Given the description of an element on the screen output the (x, y) to click on. 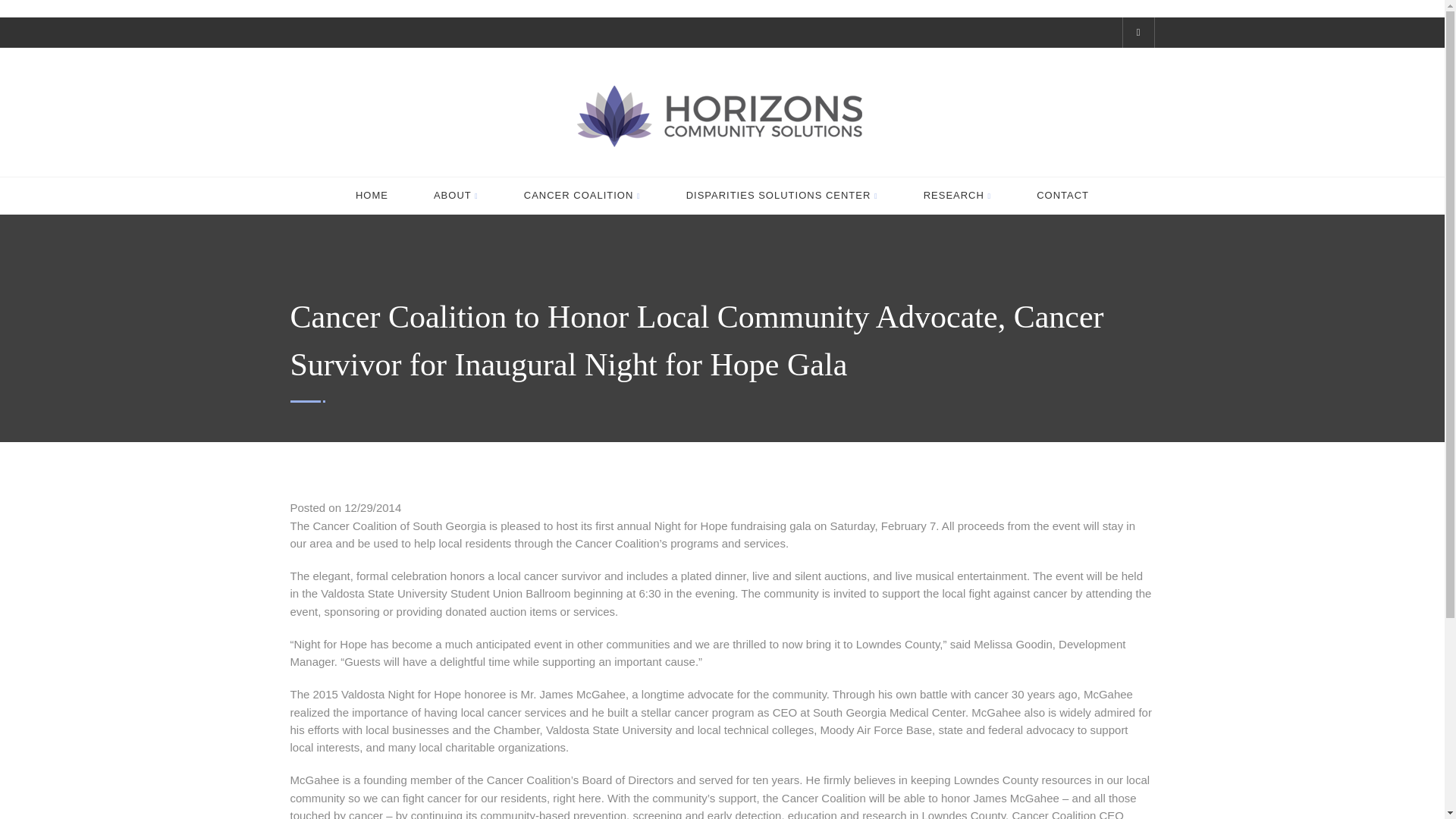
DISPARITIES SOLUTIONS CENTER (781, 195)
CANCER COALITION (582, 195)
ABOUT (456, 195)
RESEARCH (957, 195)
CONTACT (1062, 195)
